Given the description of an element on the screen output the (x, y) to click on. 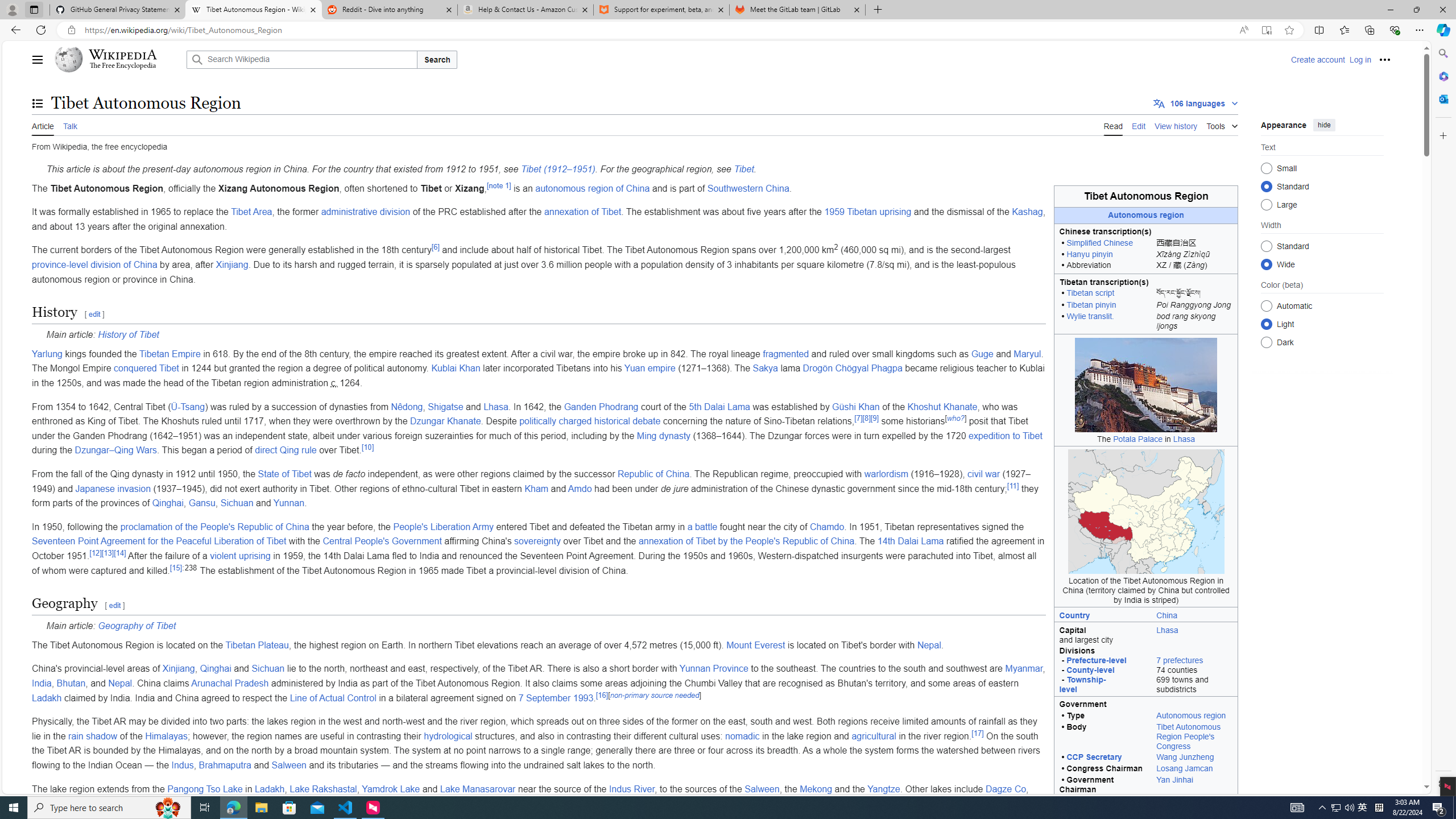
Tibetan pinyin (1090, 304)
Nepal (119, 683)
Yamdrok Lake (390, 788)
[16] (601, 694)
The Potala Palace in Lhasa The Potala Palace in Lhasa (1145, 390)
Qinghai (215, 668)
Maryul (1027, 353)
Standard (1266, 245)
Yan Jinhai (1194, 785)
CCP Secretary (1093, 757)
5th Dalai Lama (718, 406)
Central People's Government (381, 541)
Sichuan (268, 668)
State of Tibet (284, 474)
